Given the description of an element on the screen output the (x, y) to click on. 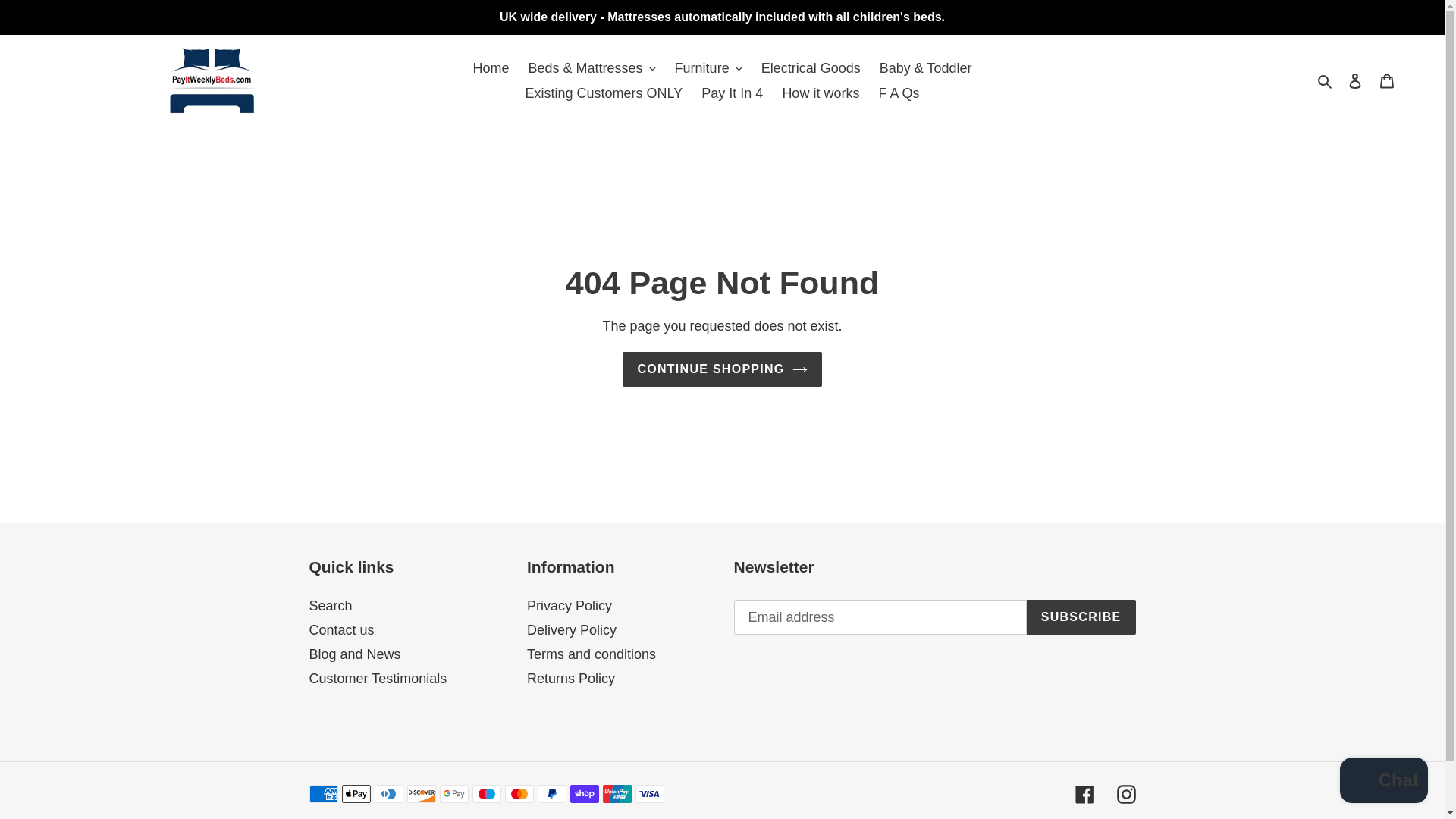
Existing Customers ONLY (604, 92)
Home (490, 68)
How it works (820, 92)
Search (1326, 80)
Electrical Goods (810, 68)
Log in (1355, 80)
Furniture (707, 68)
F A Qs (898, 92)
Shopify online store chat (1383, 781)
Cart (1387, 80)
